Given the description of an element on the screen output the (x, y) to click on. 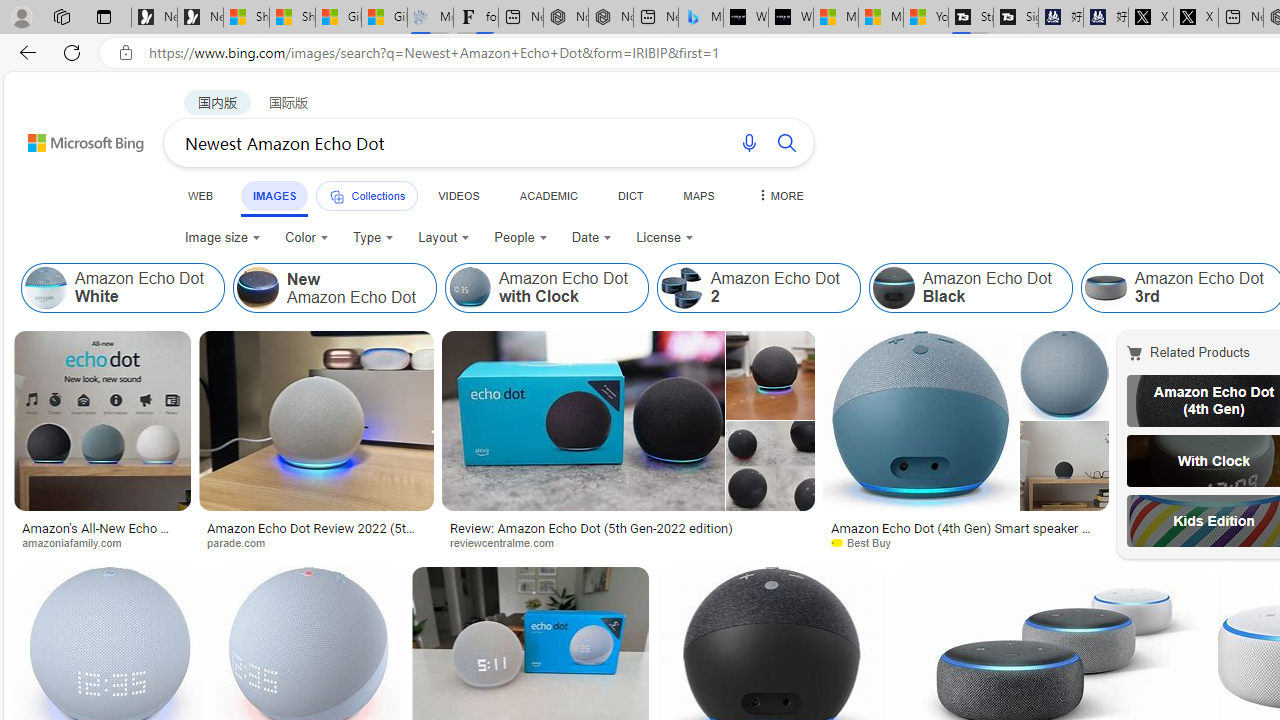
People (521, 237)
Class: item col (969, 287)
amazoniafamily.com (78, 541)
